Given the description of an element on the screen output the (x, y) to click on. 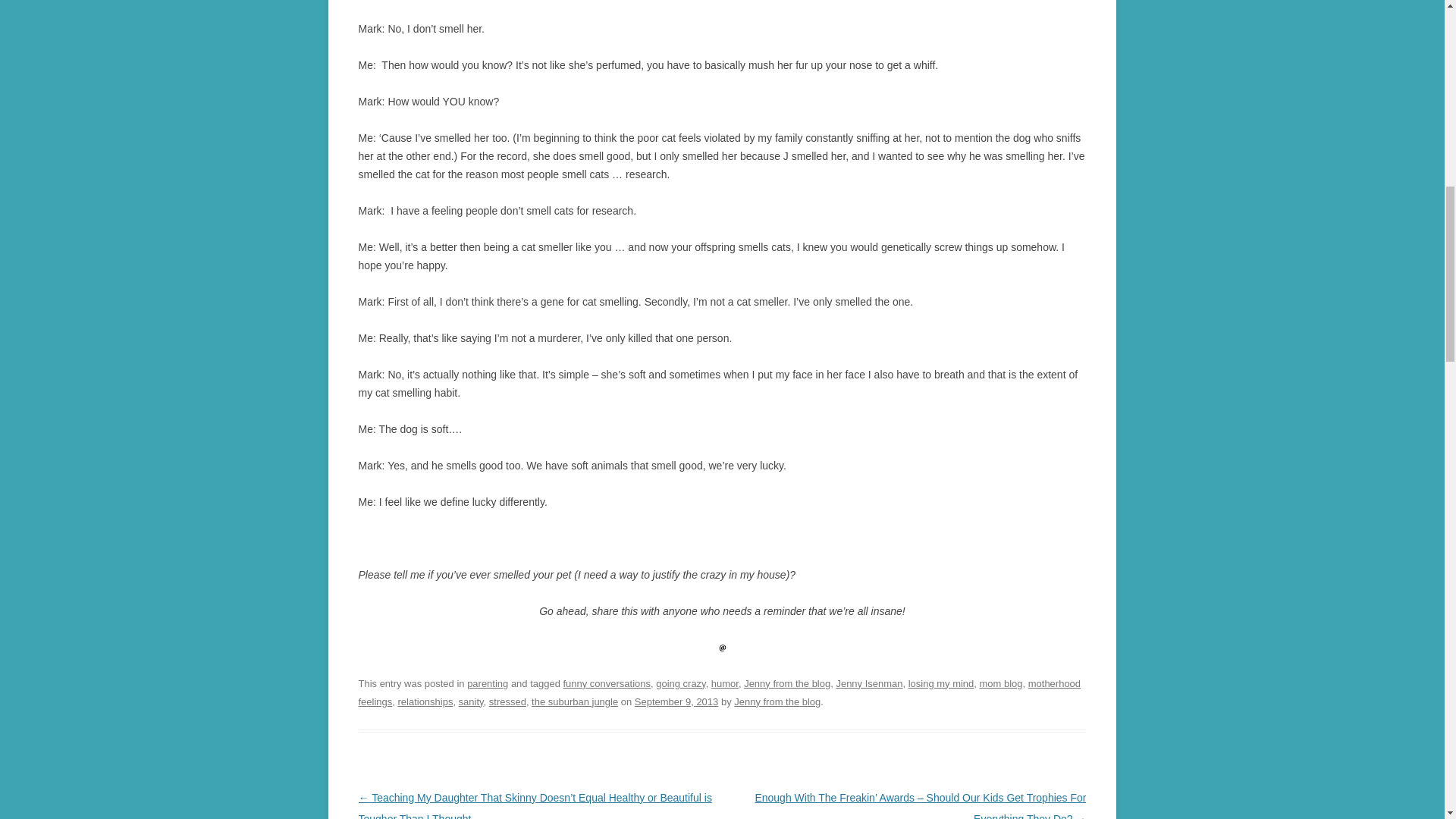
View all posts by Jenny from the blog (777, 701)
Jenny from the blog (786, 683)
parenting (487, 683)
mom blog (1001, 683)
stressed (507, 701)
losing my mind (941, 683)
Jenny Isenman (868, 683)
going crazy (680, 683)
funny conversations (605, 683)
motherhood feelings (719, 692)
